Given the description of an element on the screen output the (x, y) to click on. 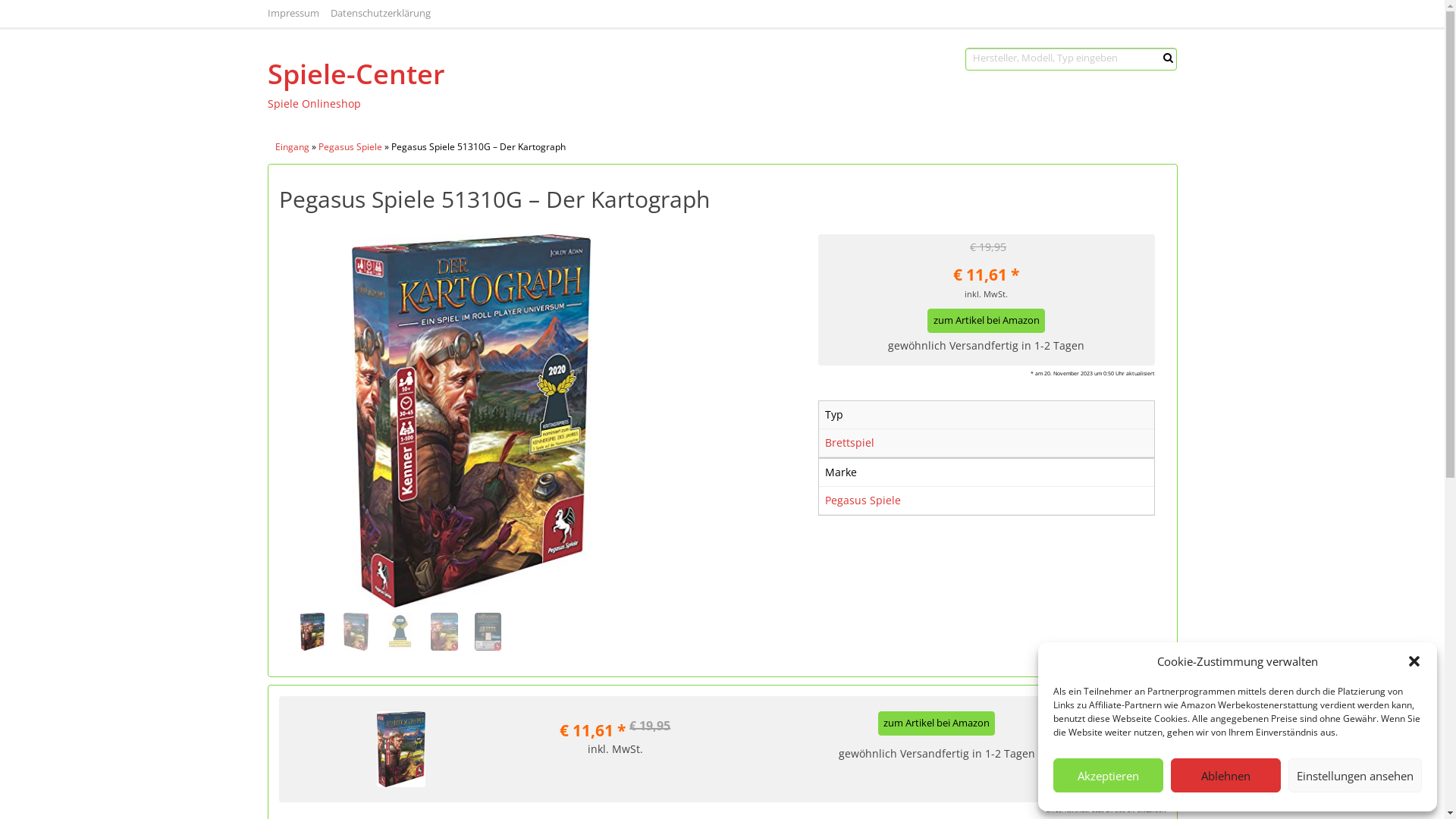
Pegasus Spiele Element type: text (350, 146)
Brettspiel Element type: text (849, 442)
Impressum Element type: text (292, 12)
zum Artikel bei Amazon Element type: text (985, 320)
Akzeptieren Element type: text (1108, 775)
Eingang Element type: text (291, 146)
Einstellungen ansehen Element type: text (1354, 775)
Pegasus Spiele Element type: text (862, 499)
Ablehnen Element type: text (1225, 775)
zum Artikel bei Amazon Element type: text (936, 723)
Spiele-Center Element type: text (456, 74)
